Given the description of an element on the screen output the (x, y) to click on. 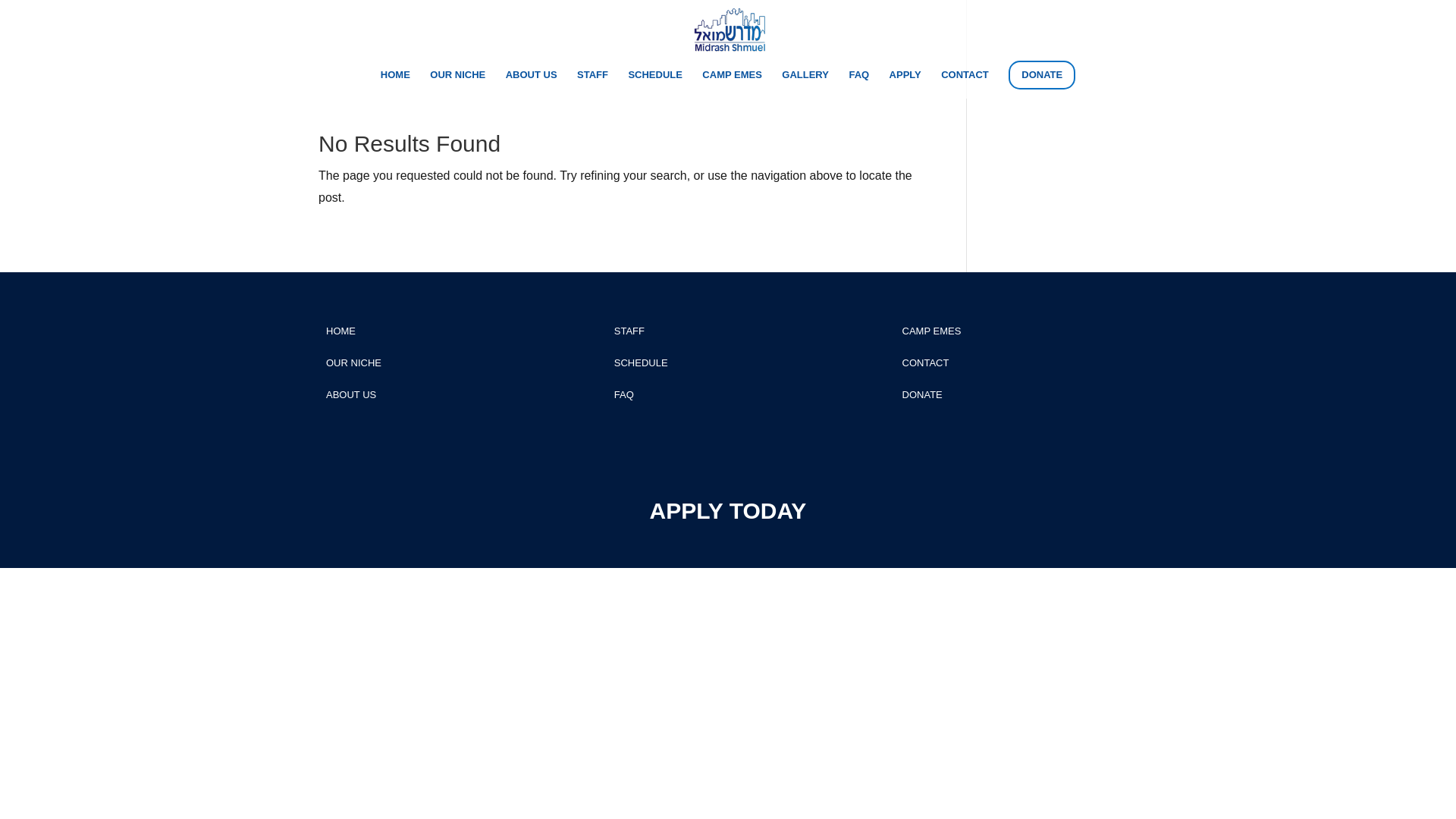
APPLY TODAY (728, 510)
HOME (340, 330)
OUR NICHE (353, 362)
DONATE (922, 394)
HOME (395, 79)
CONTACT (964, 79)
SCHEDULE (641, 362)
GALLERY (804, 79)
ABOUT US (531, 79)
FAQ (858, 79)
